Given the description of an element on the screen output the (x, y) to click on. 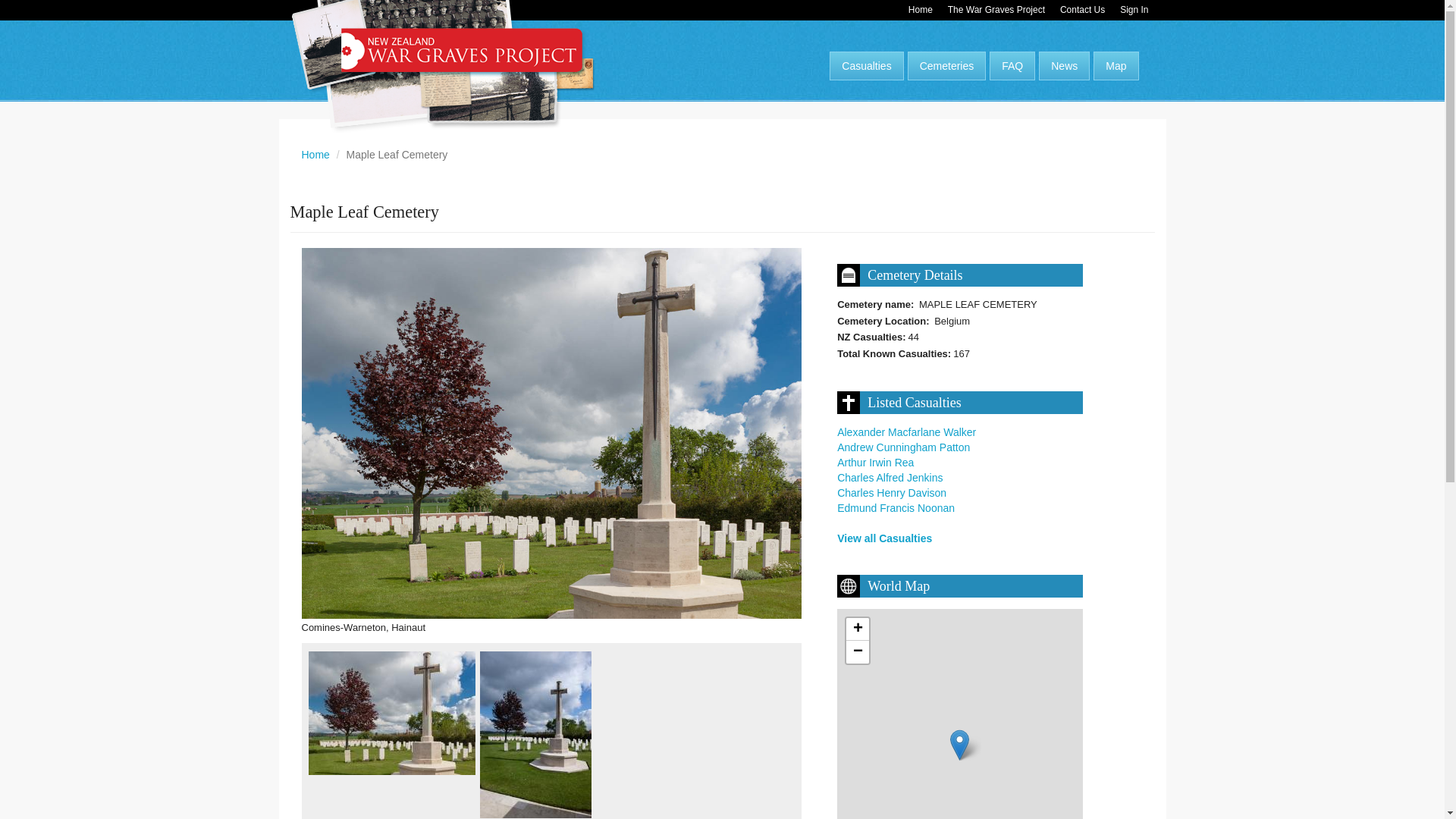
Charles Henry Davison (891, 492)
Charles Alfred Jenkins (889, 477)
Cemeteries (947, 65)
Zoom in (857, 629)
Map (1115, 65)
Sign In (1133, 10)
Home (315, 154)
Casualties (865, 65)
Zoom out (857, 651)
